Given the description of an element on the screen output the (x, y) to click on. 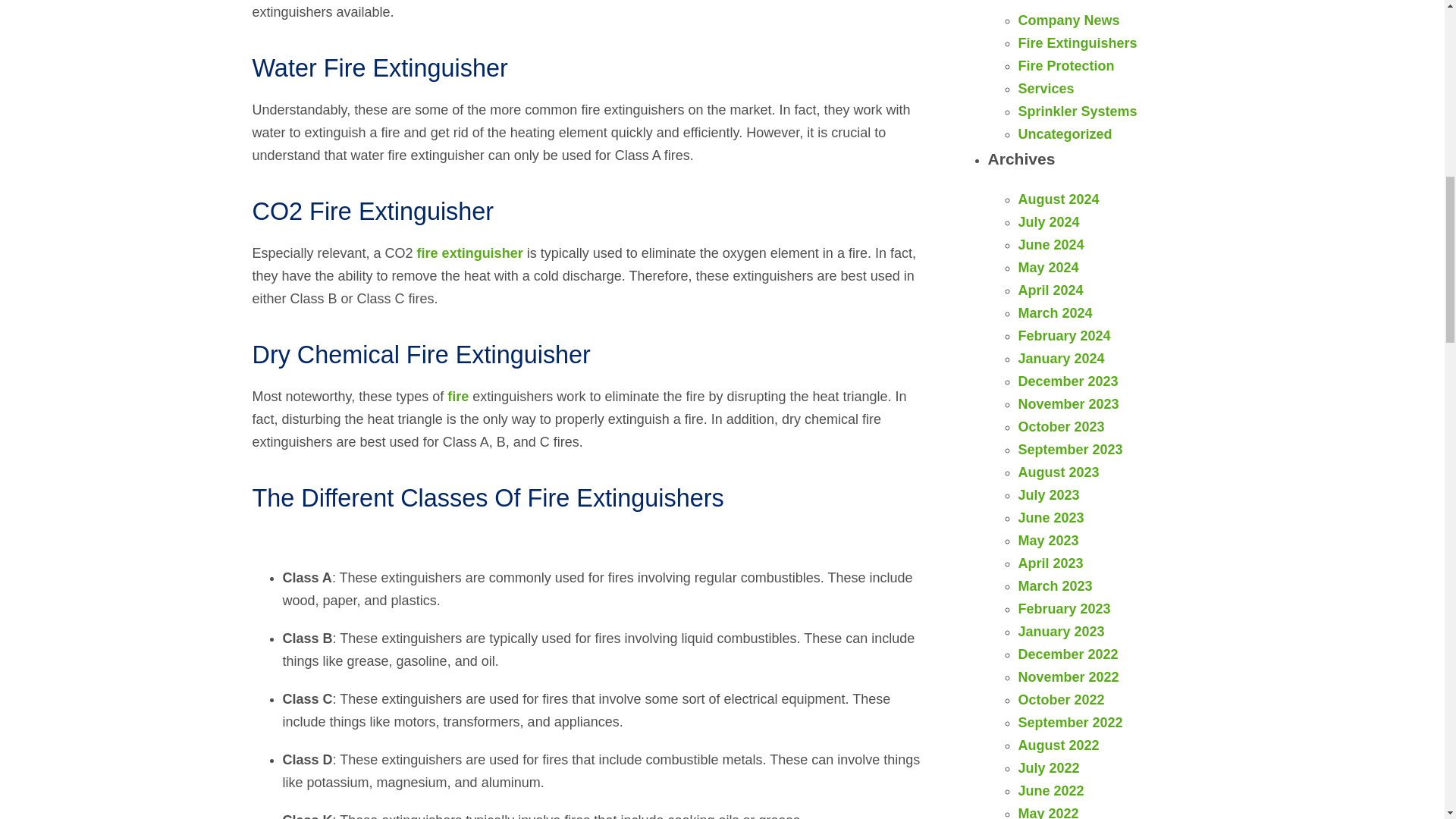
Company News (1068, 20)
fire (457, 396)
Services (1045, 88)
fire extinguisher (469, 253)
Fire Extinguishers (1077, 43)
Fire Protection (1065, 65)
